Given the description of an element on the screen output the (x, y) to click on. 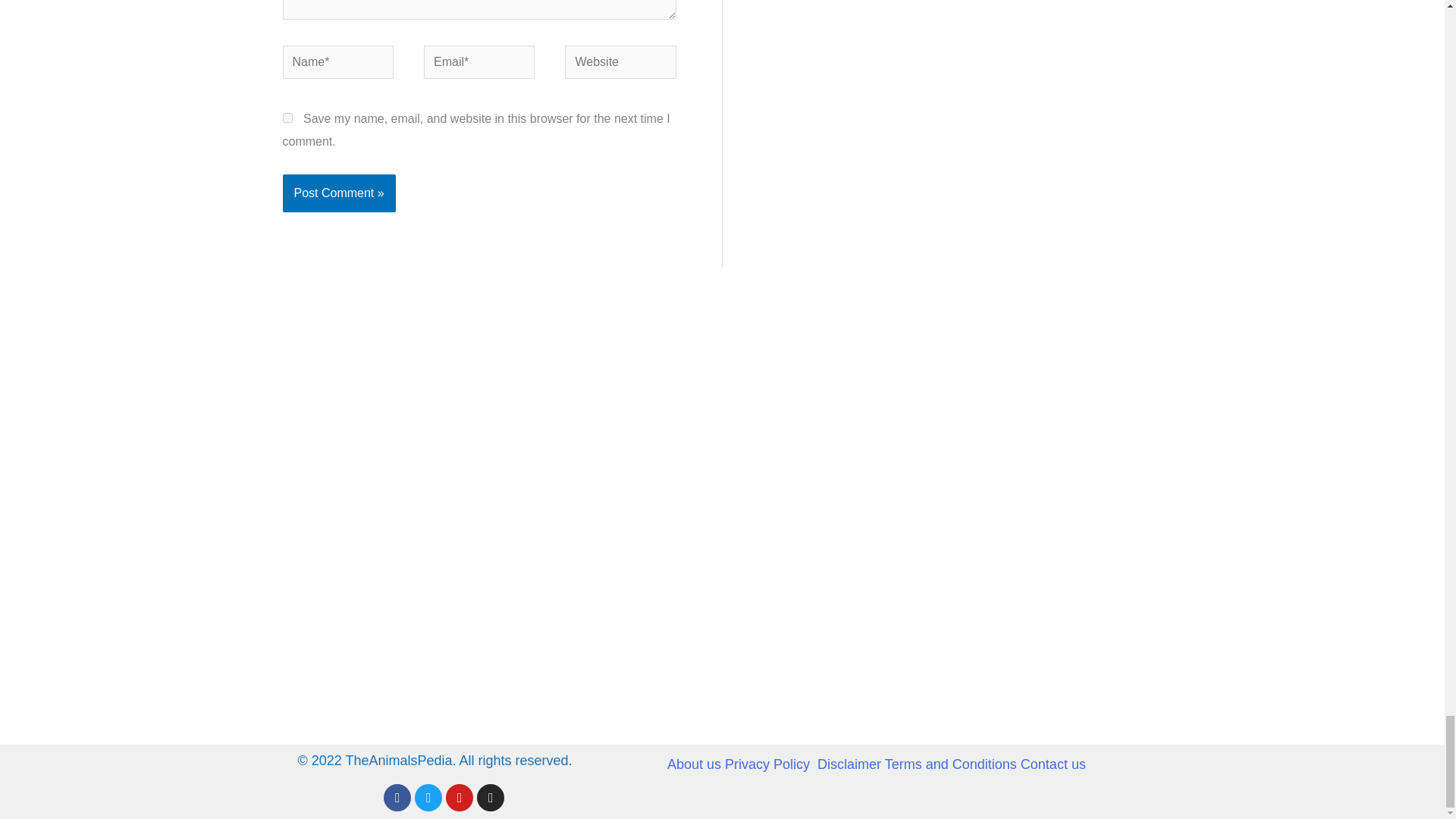
yes (287, 117)
